Given the description of an element on the screen output the (x, y) to click on. 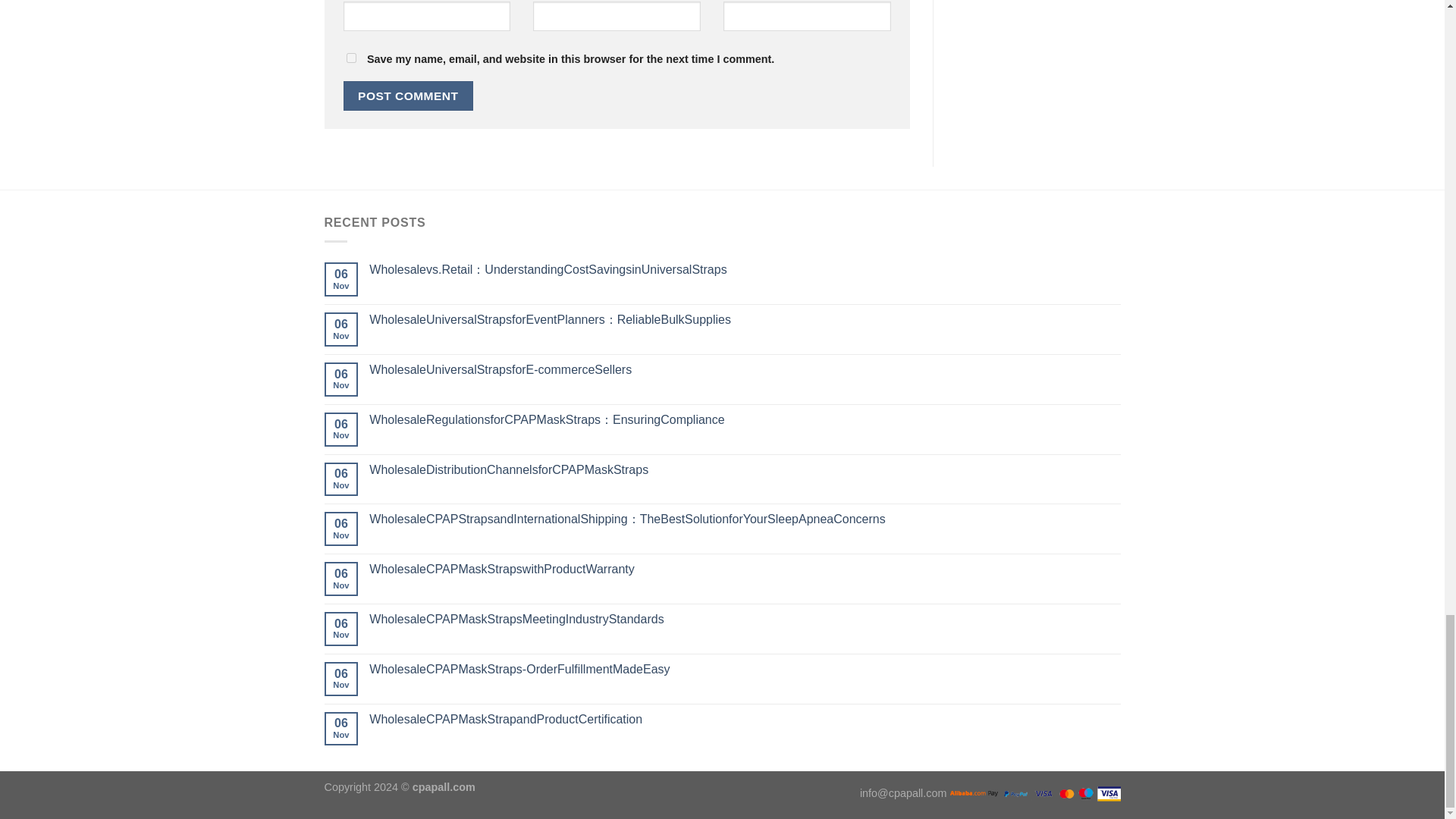
WholesaleCPAPMaskStrapsMeetingIndustryStandards (744, 618)
WholesaleUniversalStrapsforE-commerceSellers (744, 369)
WholesaleCPAPMaskStraps-OrderFulfillmentMadeEasy (744, 668)
Post Comment (407, 95)
yes (350, 58)
WholesaleCPAPMaskStrapswithProductWarranty (744, 568)
WholesaleDistributionChannelsforCPAPMaskStraps (744, 469)
Post Comment (407, 95)
WholesaleCPAPMaskStrapandProductCertification (744, 718)
